Given the description of an element on the screen output the (x, y) to click on. 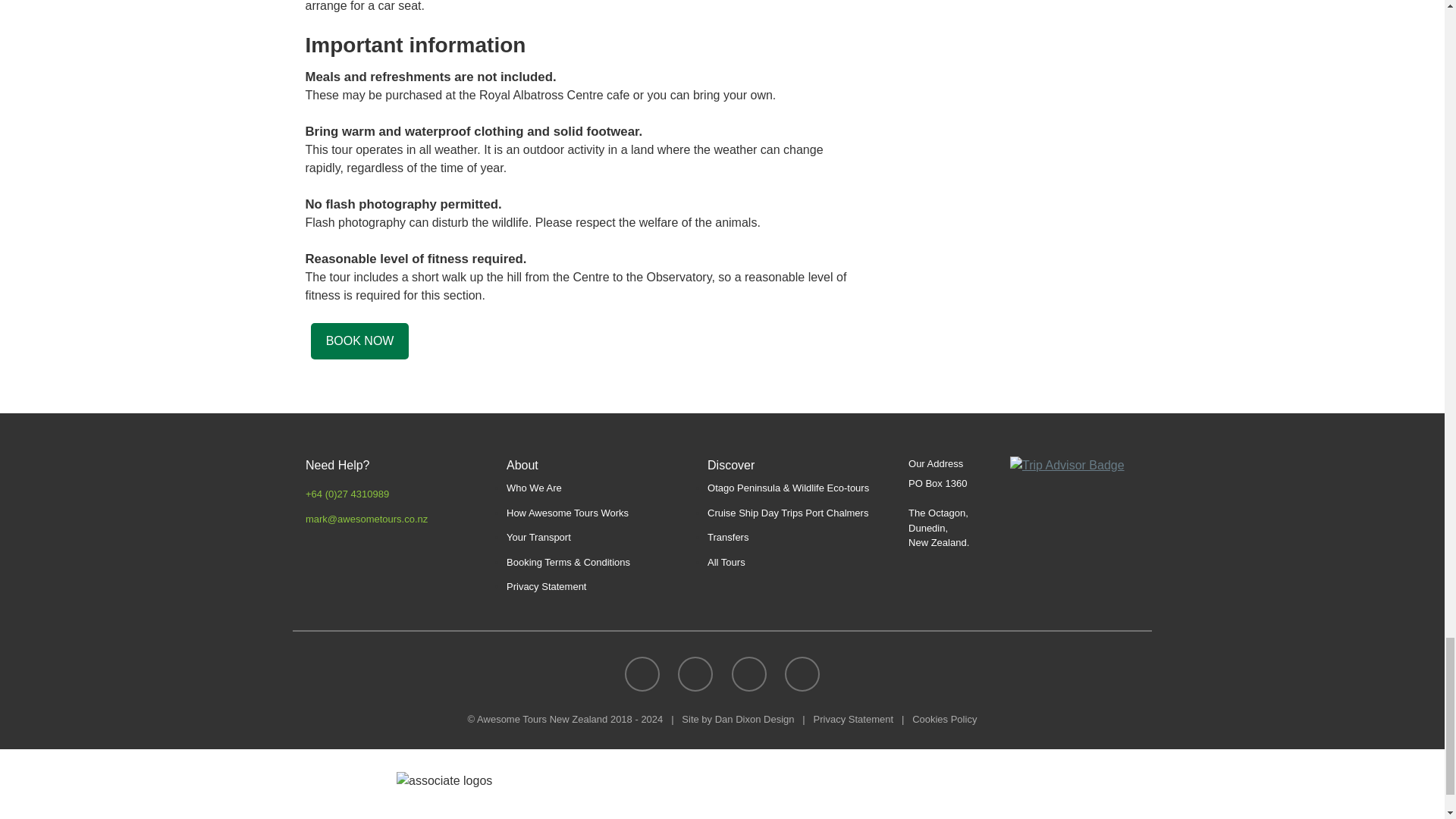
Who We Are (534, 487)
How Awesome Tours Works (567, 512)
BOOK NOW (360, 340)
Your Transport (538, 536)
Privacy Statement (546, 586)
